Given the description of an element on the screen output the (x, y) to click on. 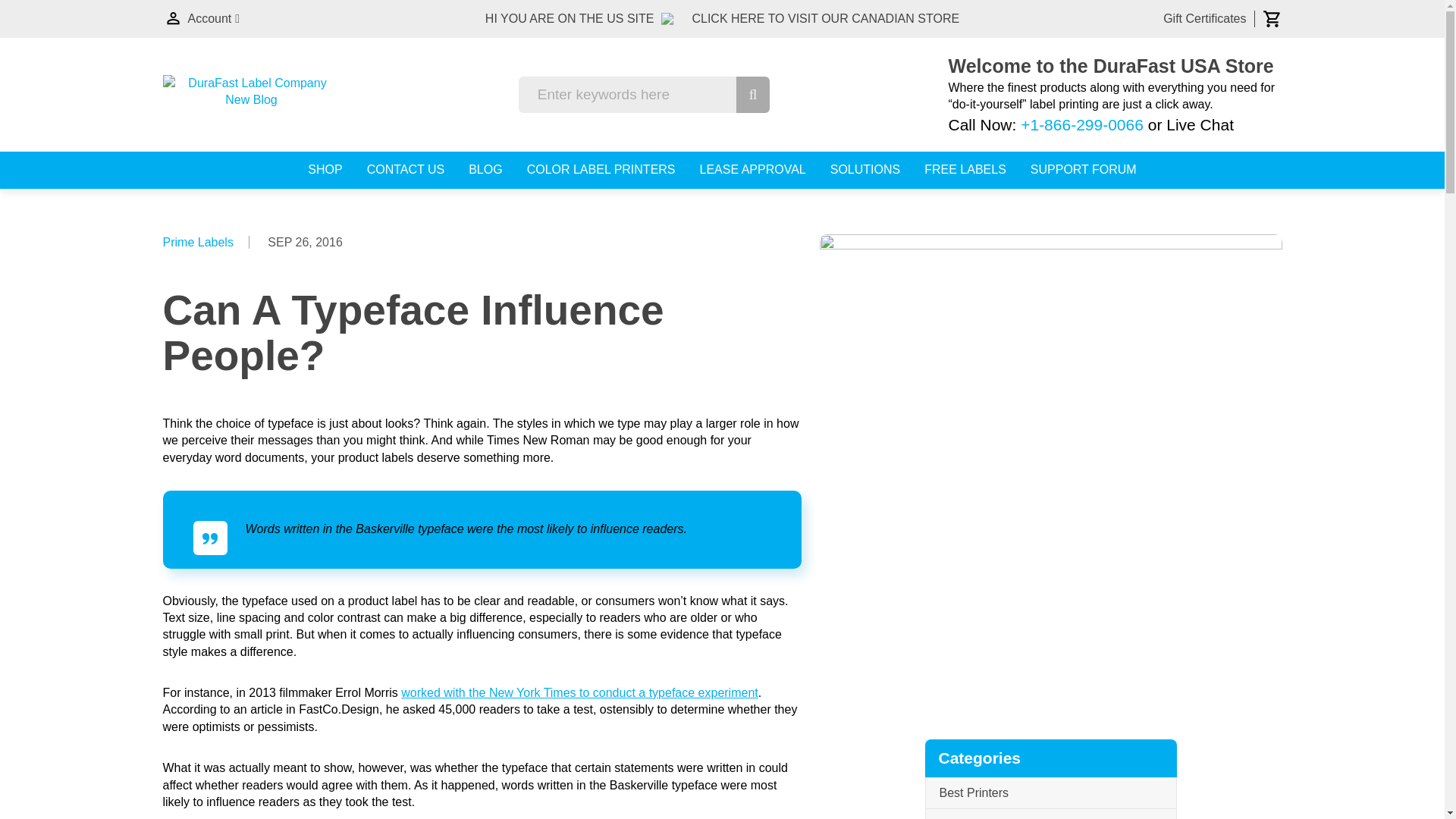
SHOP (324, 169)
FREE LABELS (965, 169)
CLICK HERE TO VISIT OUR CANADIAN STORE (825, 18)
SUPPORT FORUM (1083, 169)
CONTACT US (405, 169)
BLOG (485, 169)
SOLUTIONS (864, 169)
Drum Labels (1049, 814)
LEASE APPROVAL (753, 169)
Gift Certificates (1204, 18)
Prime Labels (196, 242)
COLOR LABEL PRINTERS (601, 169)
Best Printers (1049, 793)
